Given the description of an element on the screen output the (x, y) to click on. 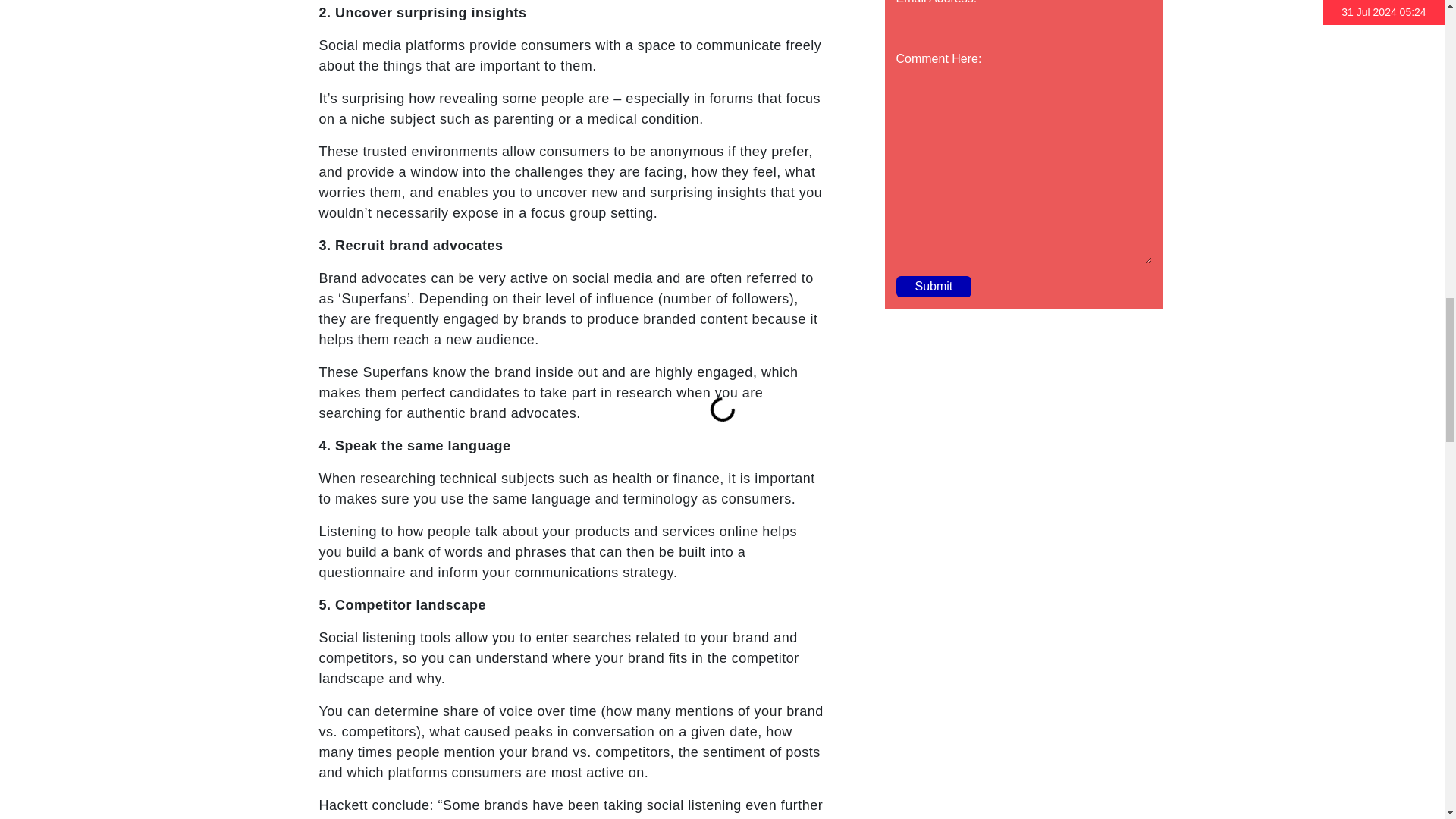
Submit (934, 286)
